Given the description of an element on the screen output the (x, y) to click on. 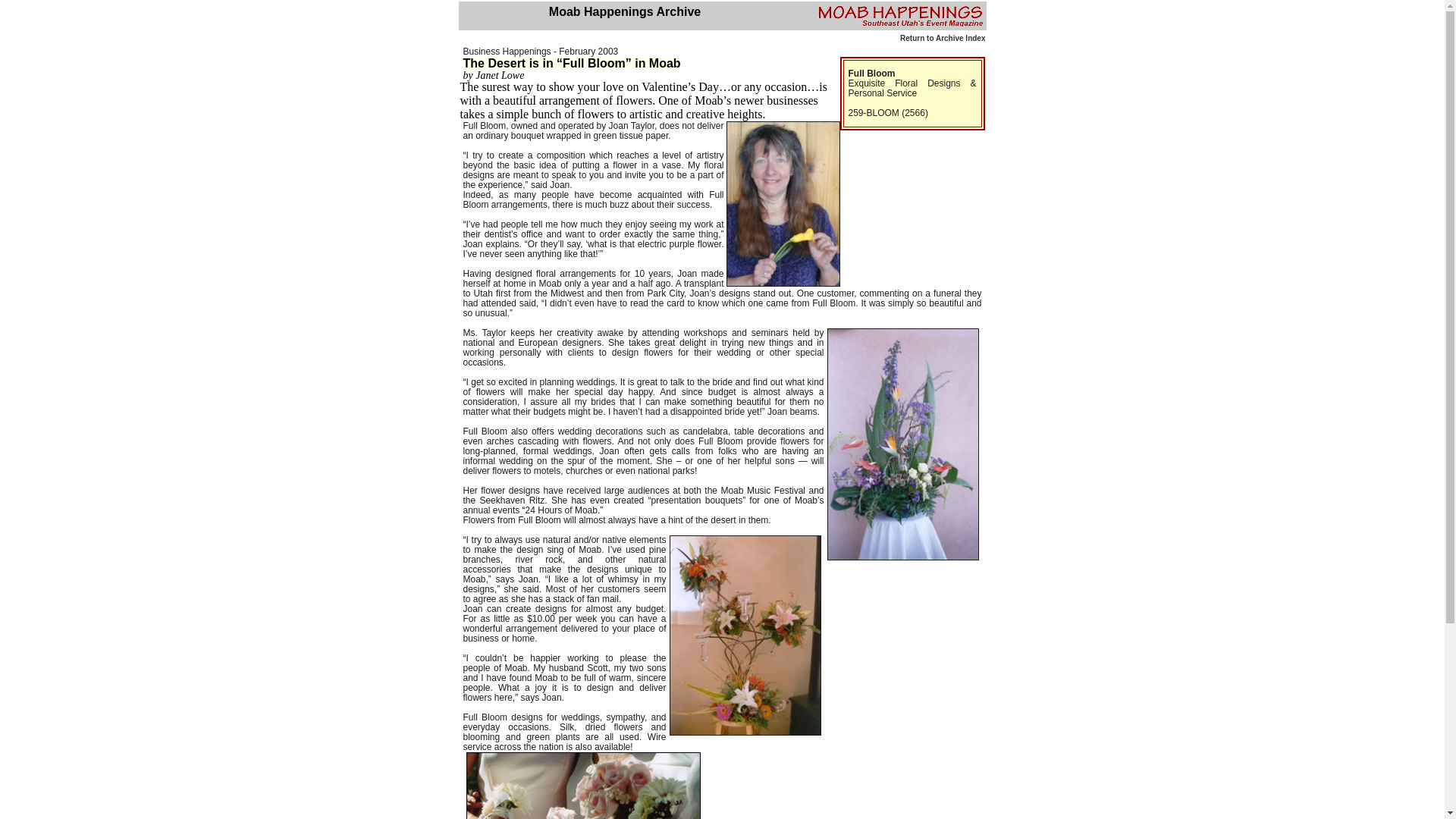
Return to Archive Index (942, 38)
